Given the description of an element on the screen output the (x, y) to click on. 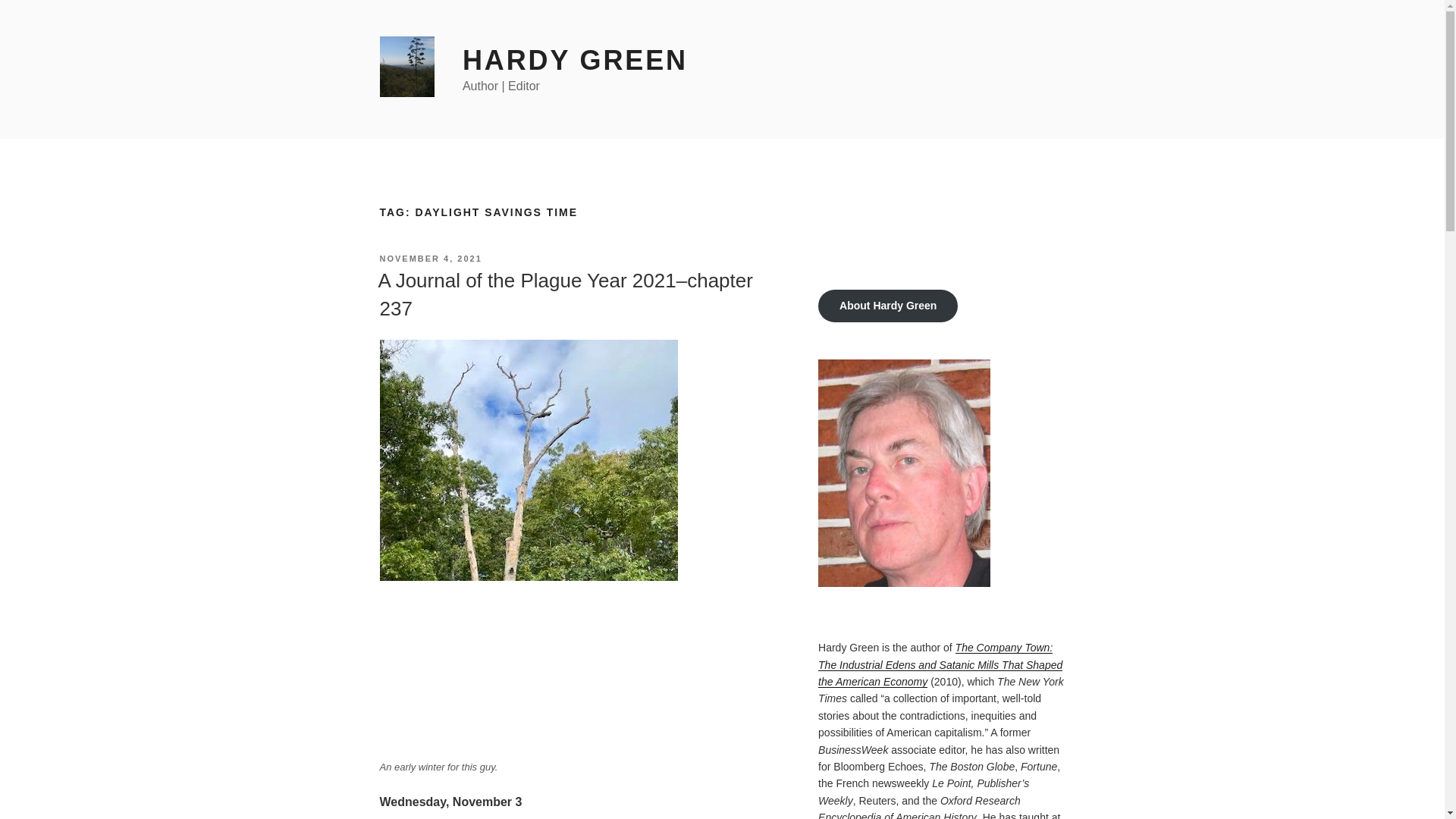
NOVEMBER 4, 2021 (429, 257)
HARDY GREEN (575, 60)
About Hardy Green (888, 305)
